Given the description of an element on the screen output the (x, y) to click on. 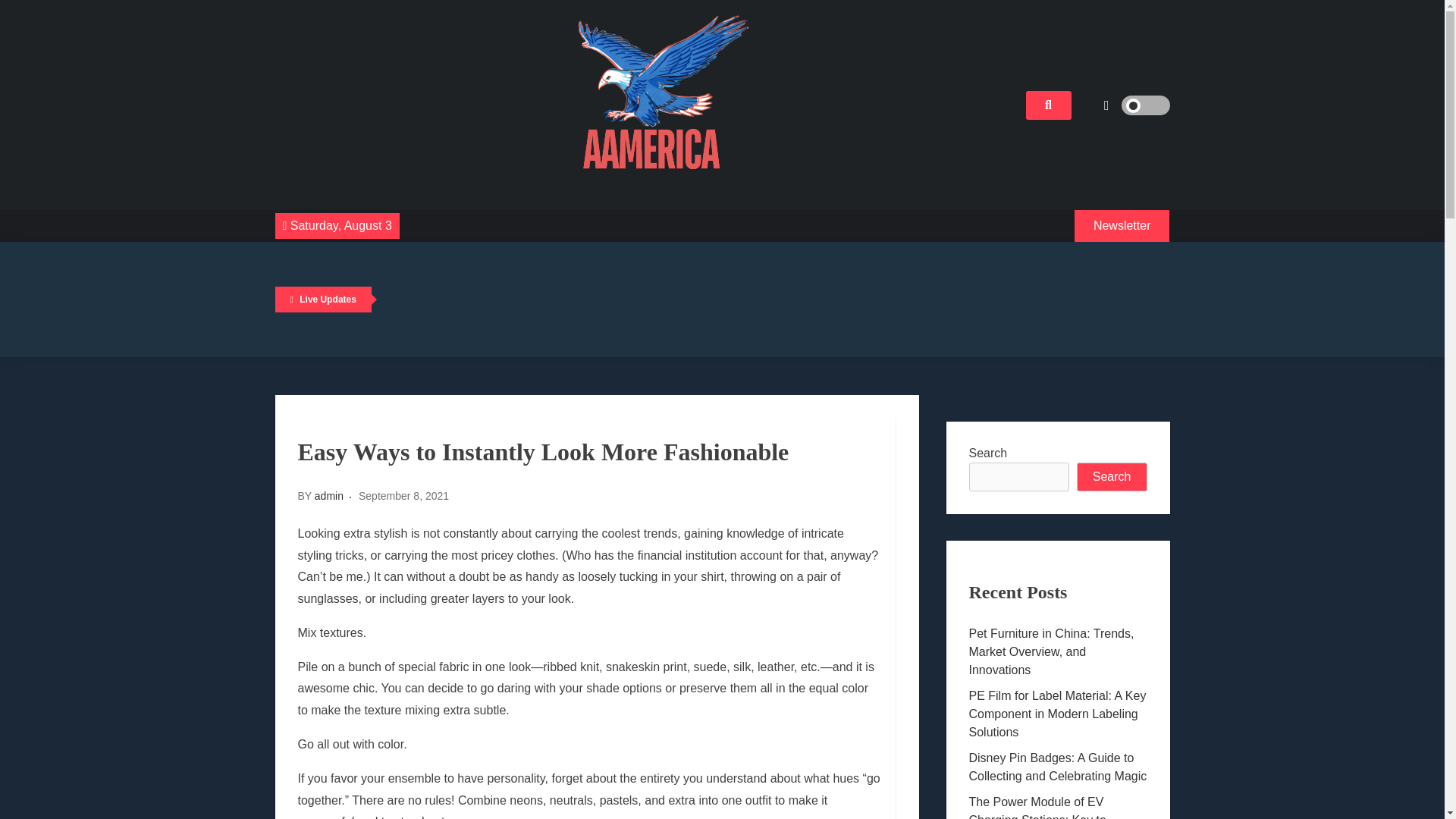
September 8, 2021 (403, 495)
admin (328, 495)
Newsletter (1122, 225)
Search (1112, 476)
